Given the description of an element on the screen output the (x, y) to click on. 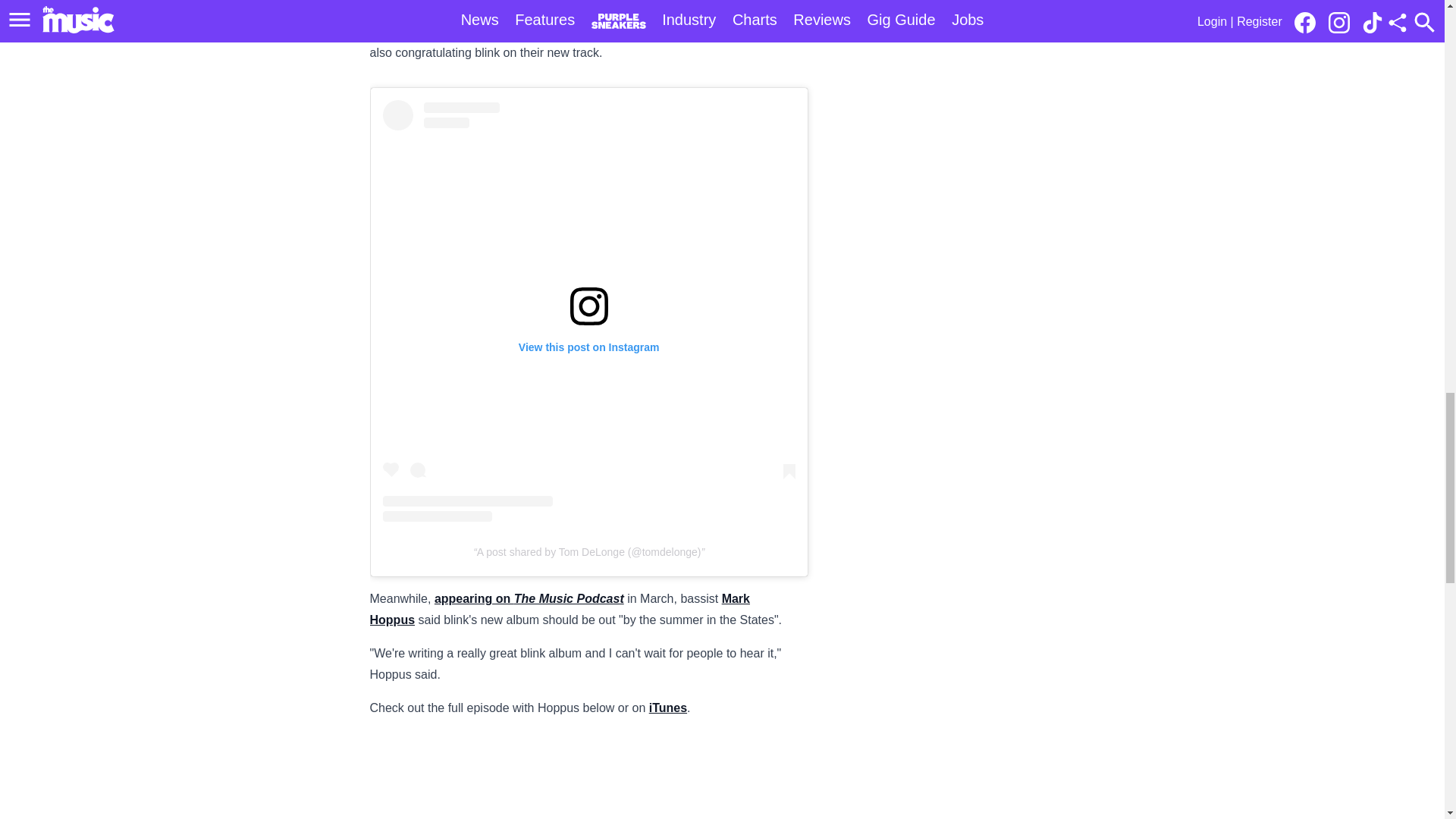
iTunes (668, 707)
appearing on The Music Podcast (528, 598)
Mark Hoppus (560, 609)
